Given the description of an element on the screen output the (x, y) to click on. 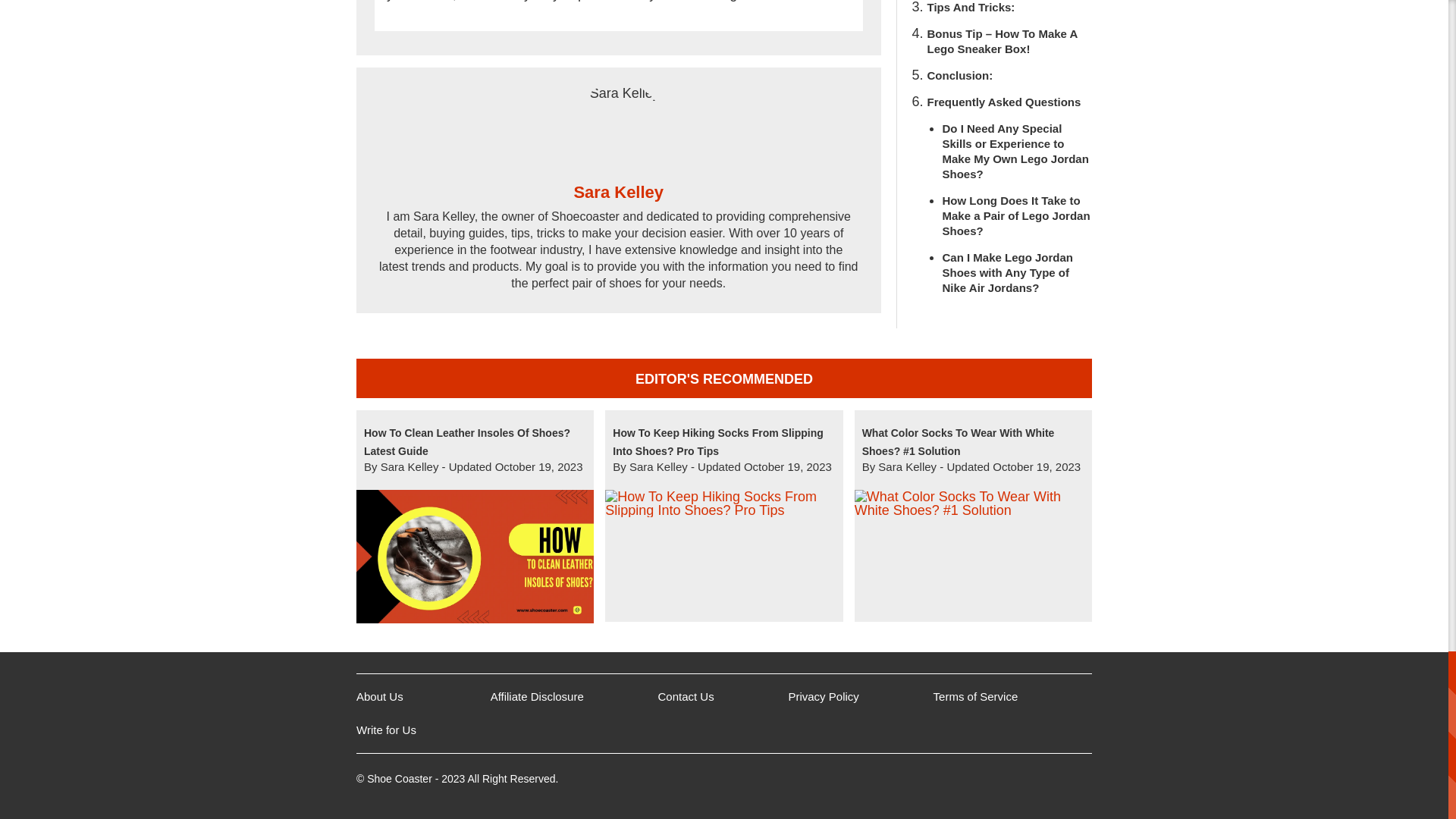
October 19, 2023 (1036, 466)
October 19, 2023 (539, 466)
October 19, 2023 (787, 466)
Sara Kelley (618, 127)
